Given the description of an element on the screen output the (x, y) to click on. 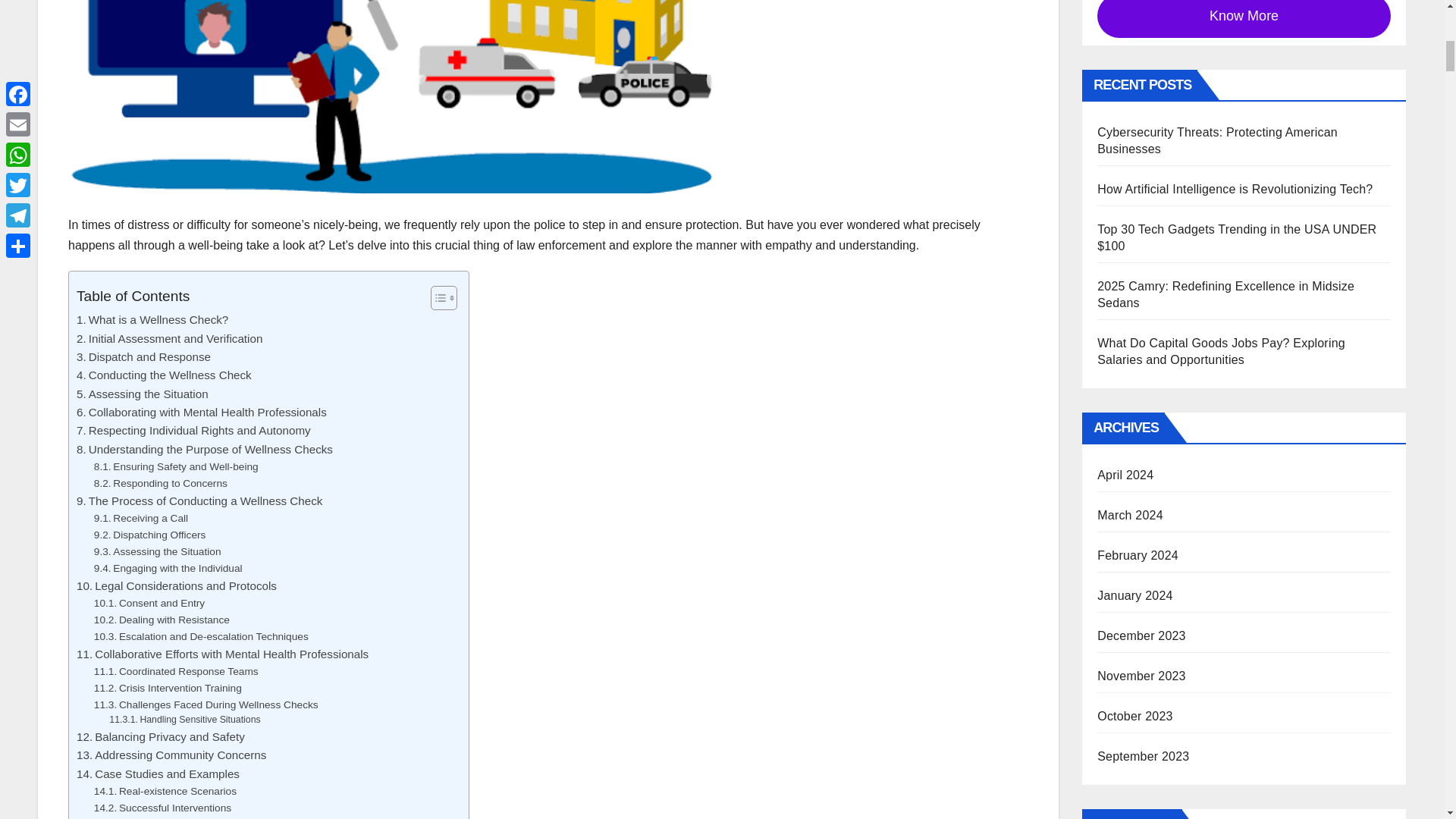
Respecting Individual Rights and Autonomy (194, 430)
Understanding the Purpose of Wellness Checks (205, 449)
Responding to Concerns (160, 483)
Collaborating with Mental Health Professionals (201, 412)
Receiving a Call (140, 518)
Engaging with the Individual (168, 568)
Dispatch and Response (144, 357)
Legal Considerations and Protocols (176, 586)
Dealing with Resistance (162, 619)
Conducting the Wellness Check (164, 375)
Dispatching Officers (150, 535)
Conducting the Wellness Check (164, 375)
Ensuring Safety and Well-being (176, 466)
Consent and Entry (149, 603)
Dispatch and Response (144, 357)
